Given the description of an element on the screen output the (x, y) to click on. 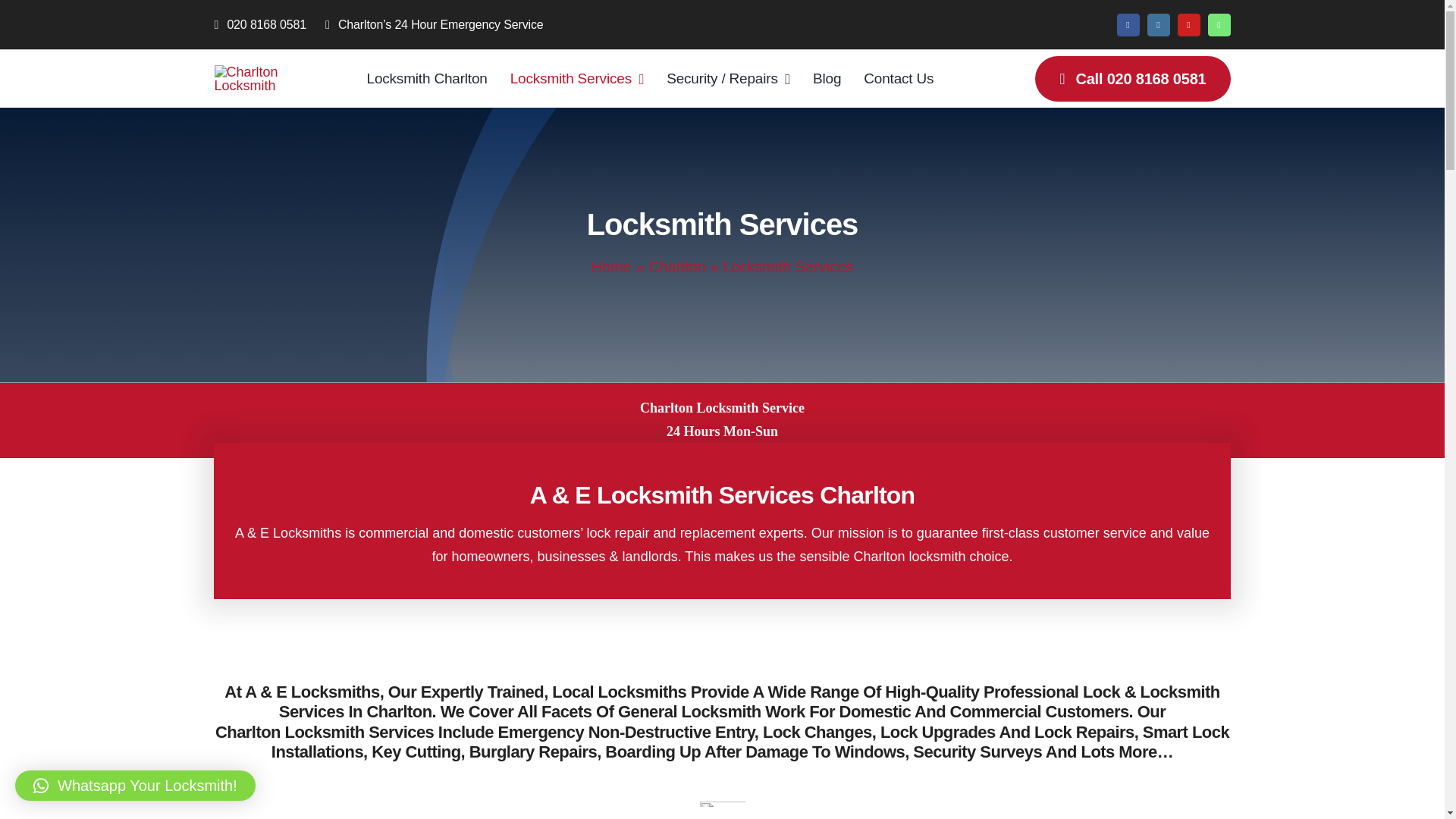
Charlton (676, 266)
020 8168 0581 (269, 24)
Home (611, 266)
Contact Us (898, 78)
heading-separator (721, 803)
Locksmith Services (578, 78)
Locksmith Charlton (426, 78)
Call 020 8168 0581 (1132, 78)
